Given the description of an element on the screen output the (x, y) to click on. 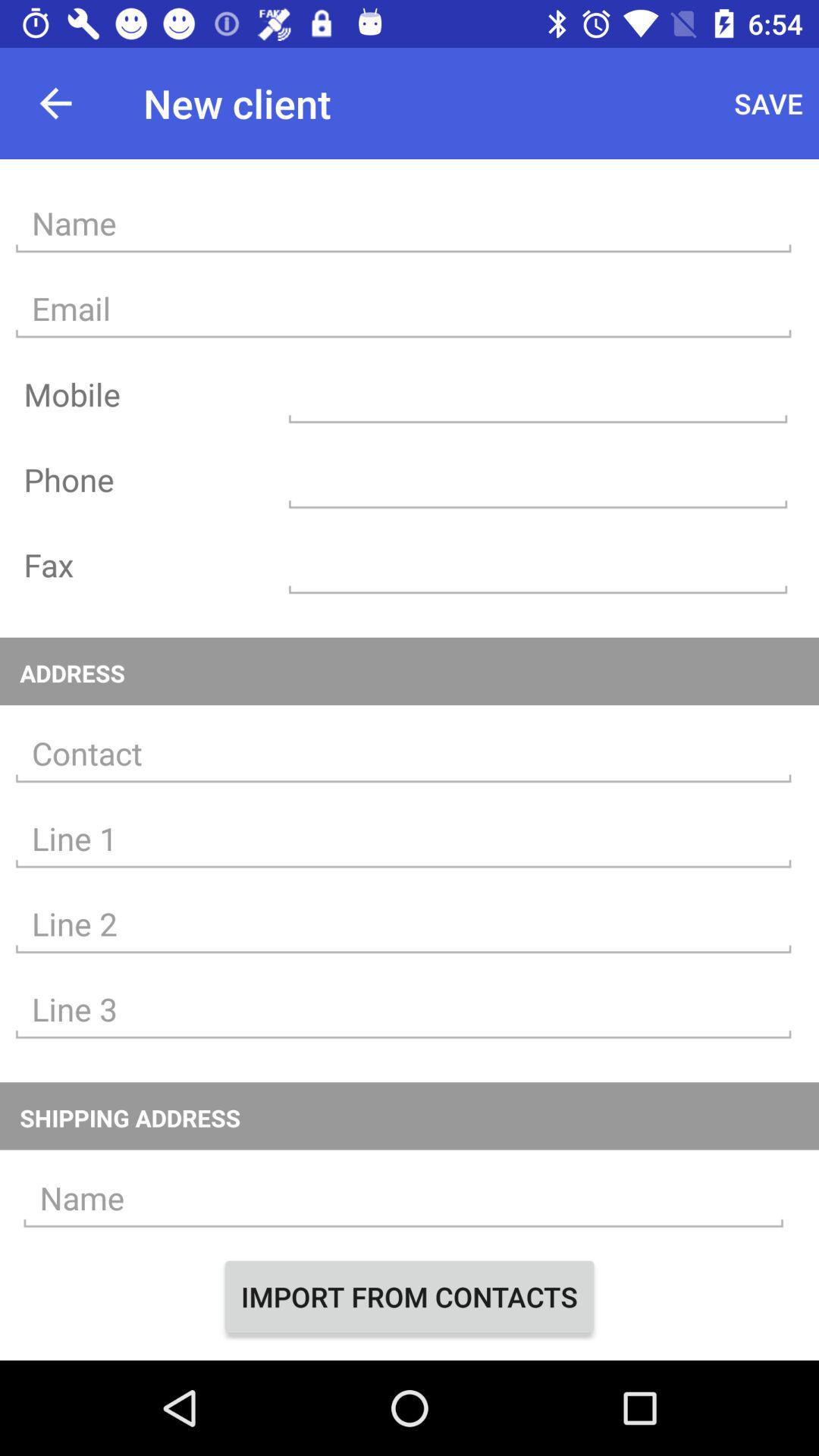
input information (403, 924)
